Given the description of an element on the screen output the (x, y) to click on. 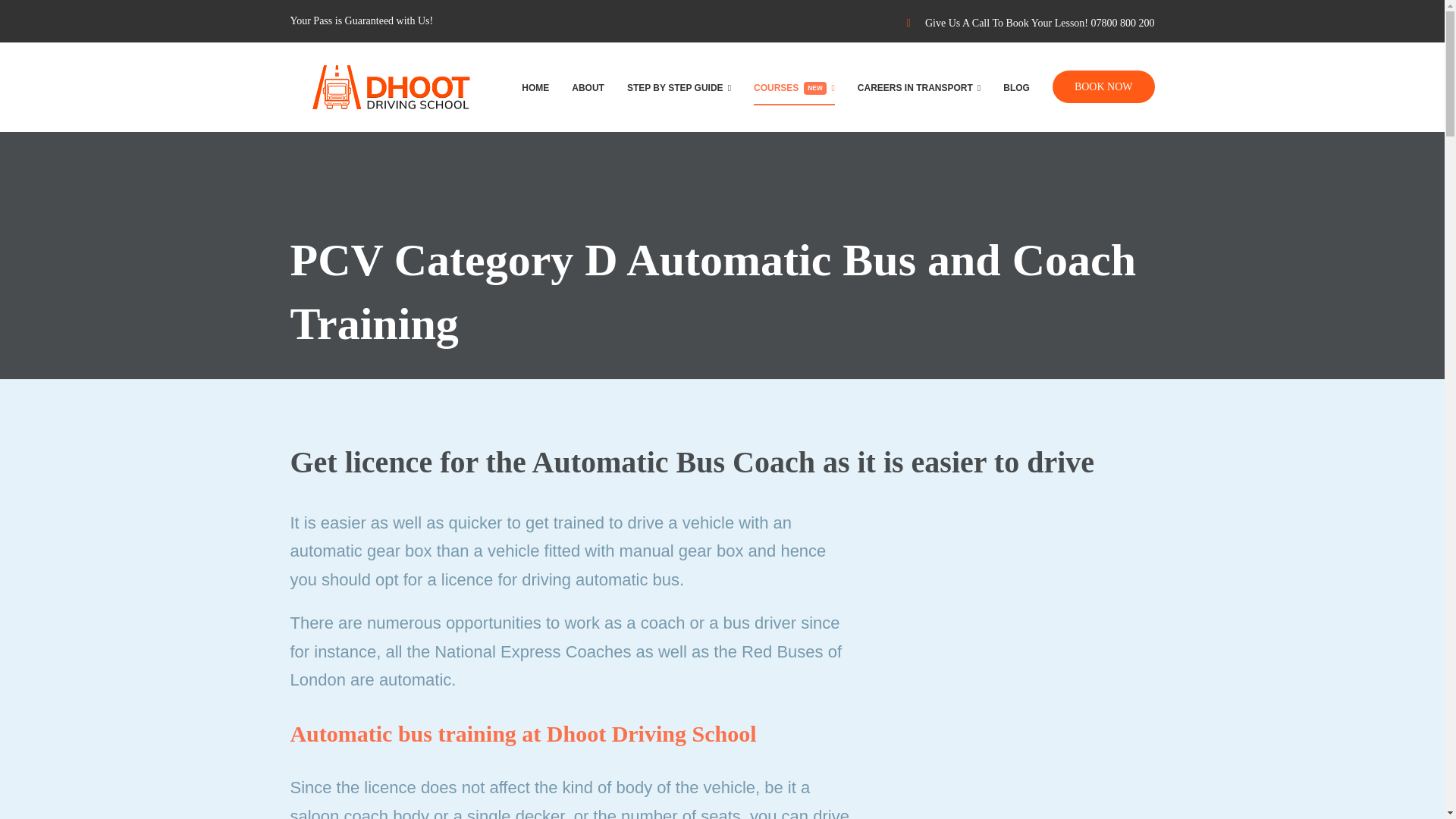
STEP BY STEP GUIDE (678, 86)
07800 800 200 (1122, 22)
ABOUT (794, 86)
